Given the description of an element on the screen output the (x, y) to click on. 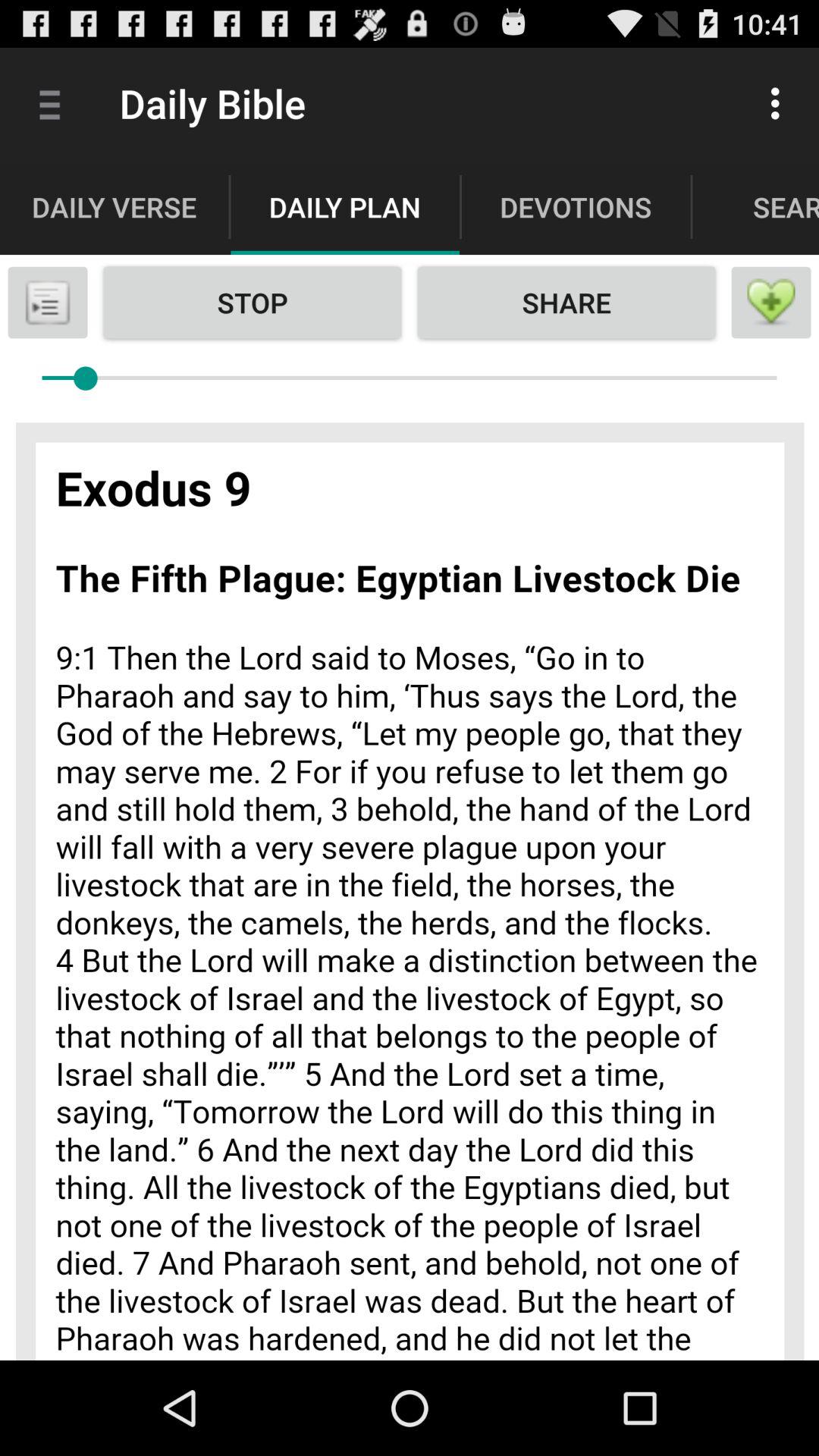
save the file (47, 302)
